Given the description of an element on the screen output the (x, y) to click on. 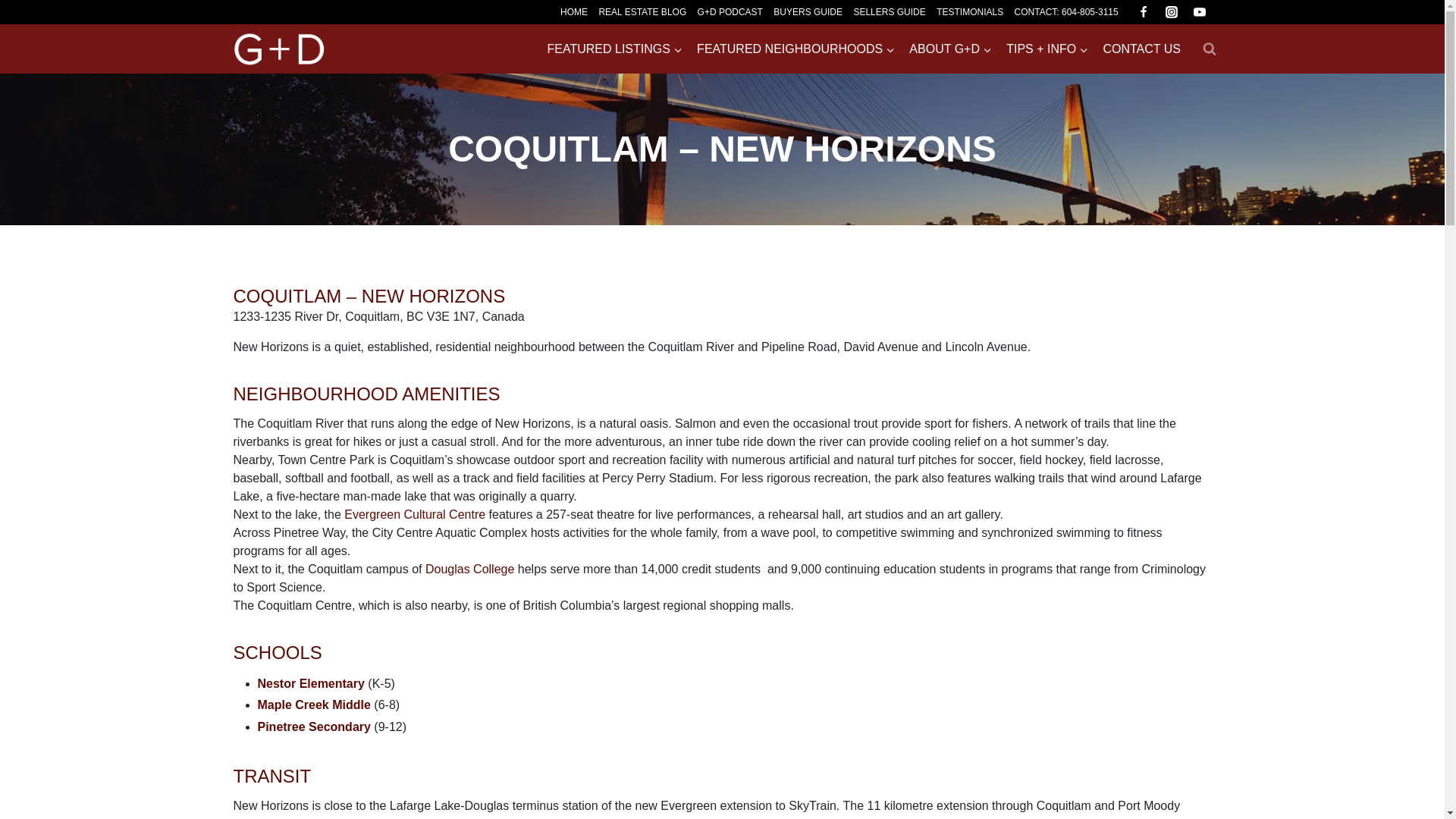
FEATURED NEIGHBOURHOODS (796, 48)
BUYERS GUIDE (807, 12)
TESTIMONIALS (970, 12)
SELLERS GUIDE (889, 12)
CONTACT: 604-805-3115 (1066, 12)
REAL ESTATE BLOG (641, 12)
FEATURED LISTINGS (615, 48)
HOME (573, 12)
